Given the description of an element on the screen output the (x, y) to click on. 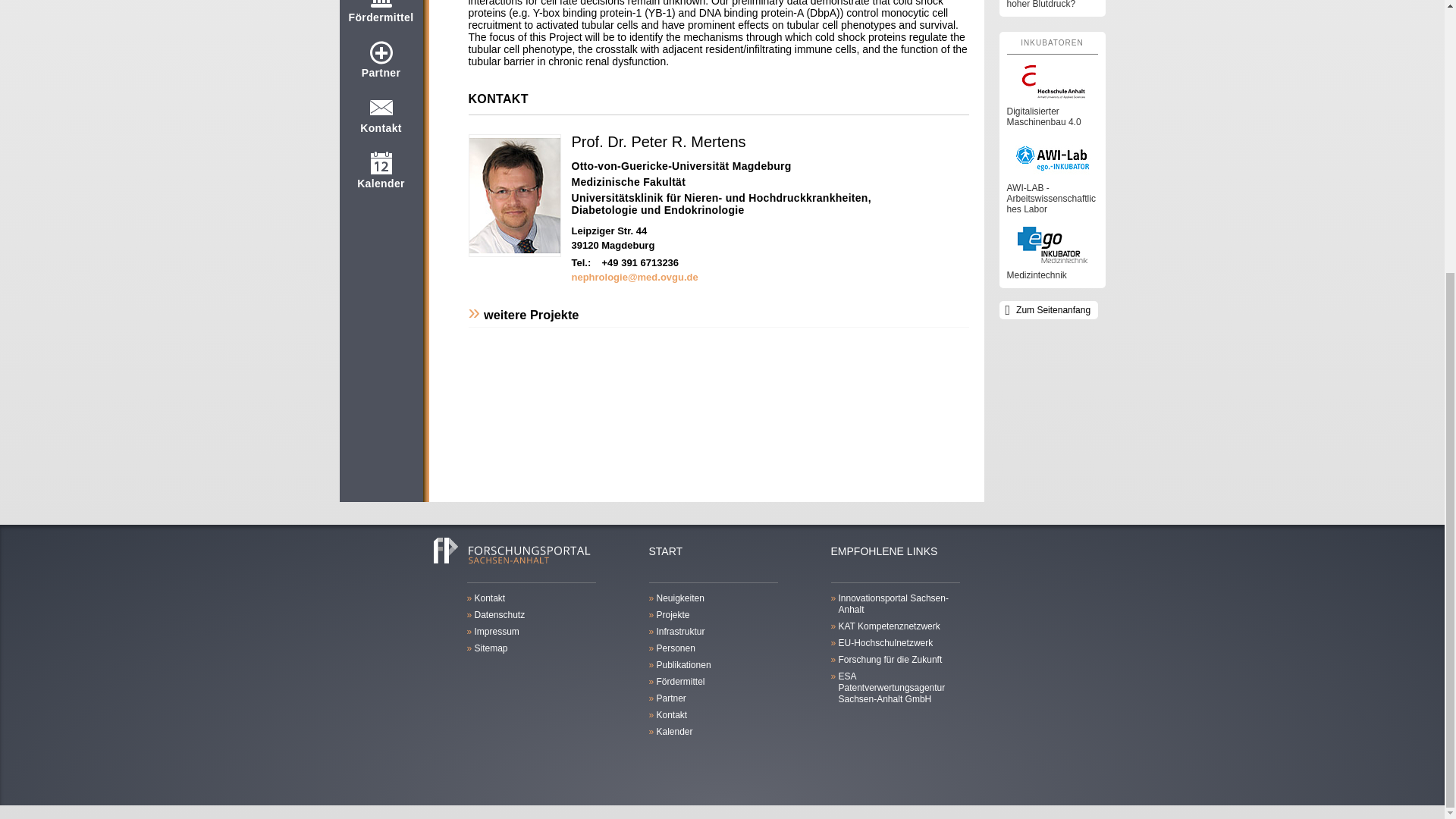
Partner (381, 66)
Digitalisierter Maschinenbau 4.0 (1052, 94)
Prof. Dr. Peter R. Mertens (658, 141)
Kalender (381, 177)
AWI-LAB - Arbeitswissenschaftliches Labor (1052, 176)
Medizintechnik (1052, 253)
Partner (381, 66)
Kalender (381, 177)
Kontakt (381, 121)
Kontakt (381, 121)
